Given the description of an element on the screen output the (x, y) to click on. 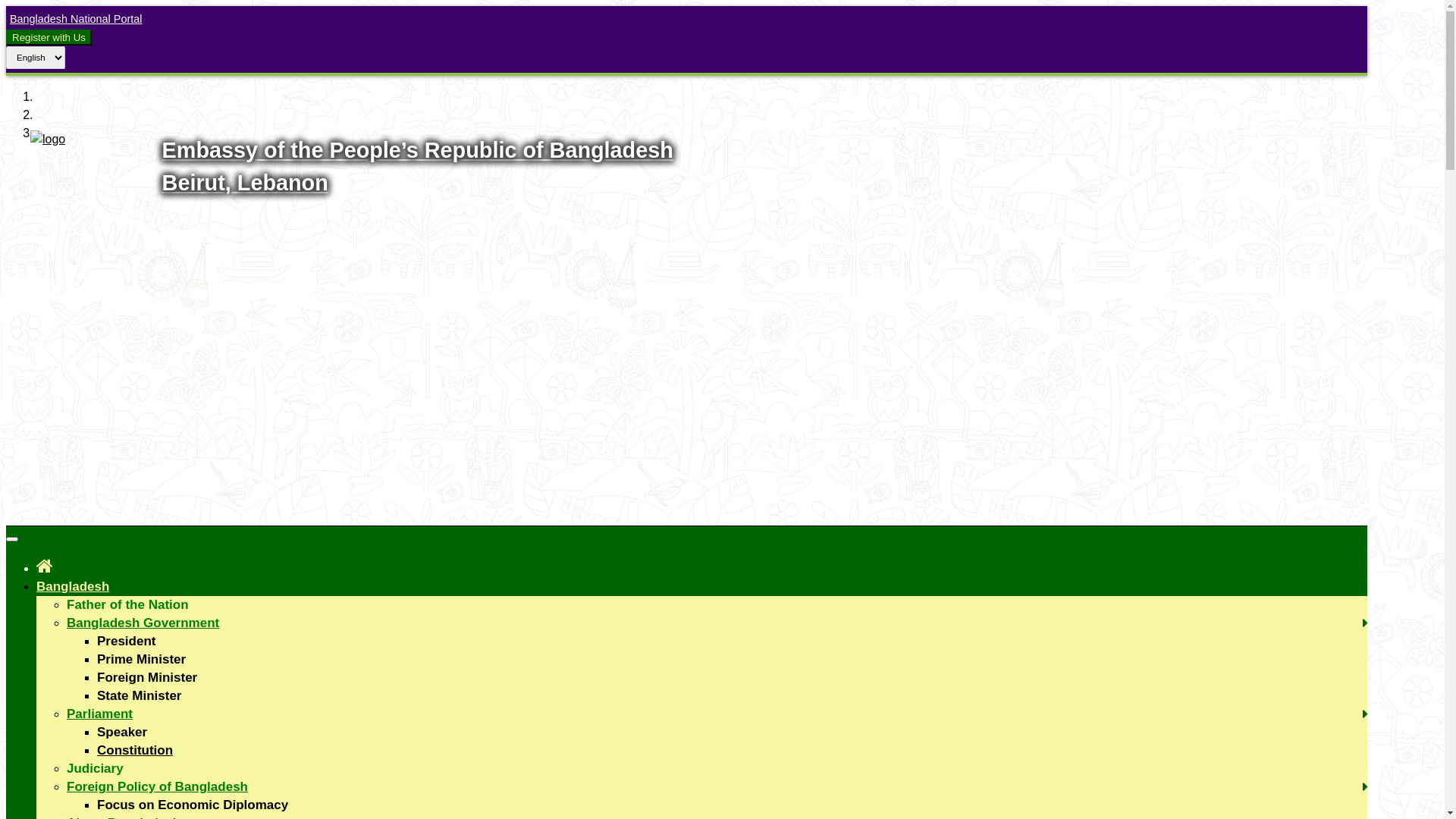
Speaker Element type: text (122, 731)
Focus on Economic Diplomacy Element type: text (192, 804)
President Element type: text (126, 640)
Foreign Policy of Bangladesh Element type: text (156, 786)
Father of the Nation Element type: text (127, 604)
Parliament Element type: text (99, 713)
Judiciary Element type: text (94, 768)
Home Element type: hover (44, 565)
Bangladesh National Portal Element type: text (73, 18)
Logo Element type: hover (47, 138)
Register with Us Element type: text (48, 37)
Register with Us Element type: text (48, 37)
Prime Minister Element type: text (141, 659)
Constitution Element type: text (134, 750)
Bangladesh Government Element type: text (142, 622)
Bangladesh Element type: text (72, 586)
Foreign Minister Element type: text (147, 677)
State Minister Element type: text (139, 695)
